Given the description of an element on the screen output the (x, y) to click on. 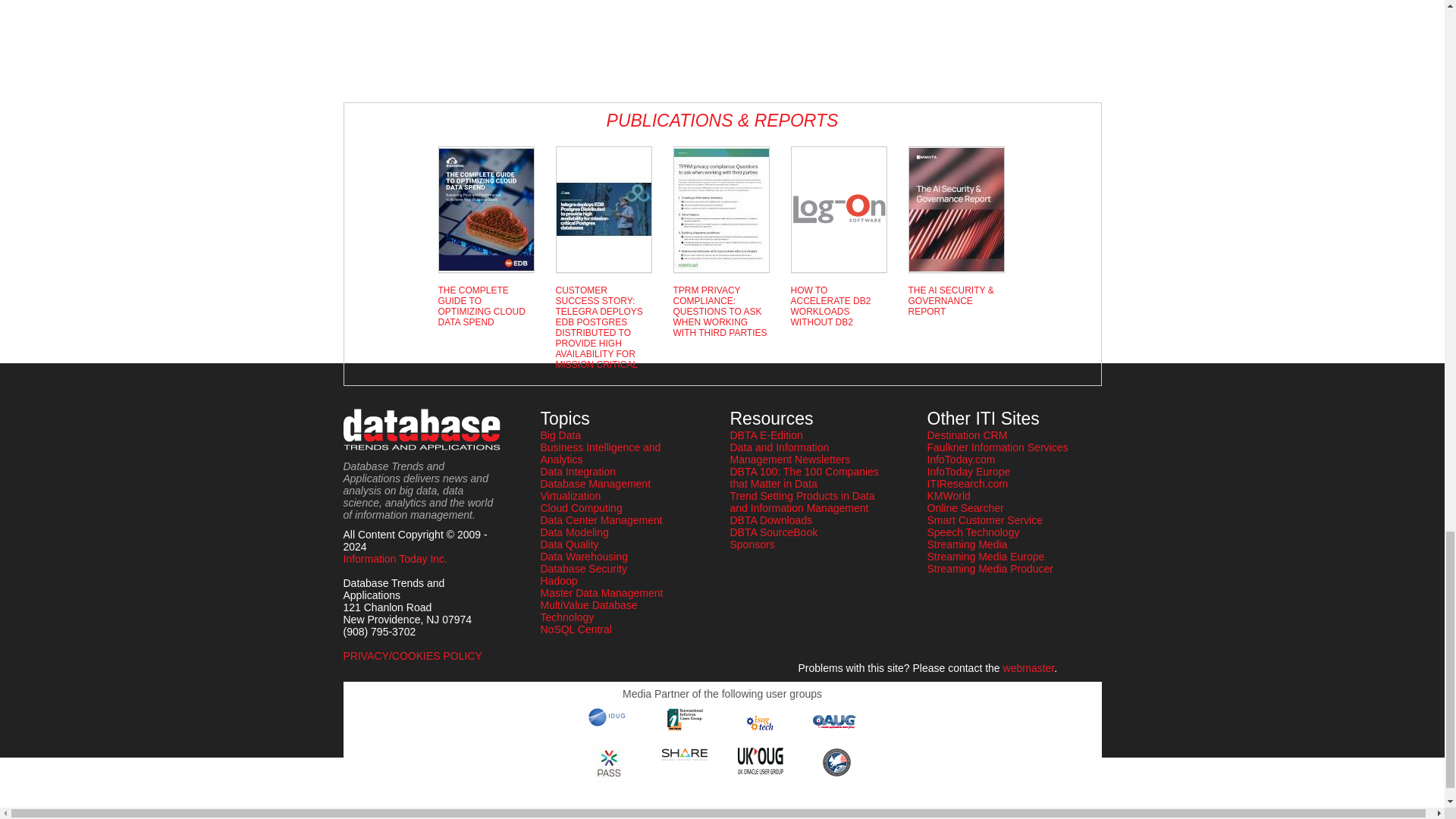
3rd party ad content (403, 46)
